Given the description of an element on the screen output the (x, y) to click on. 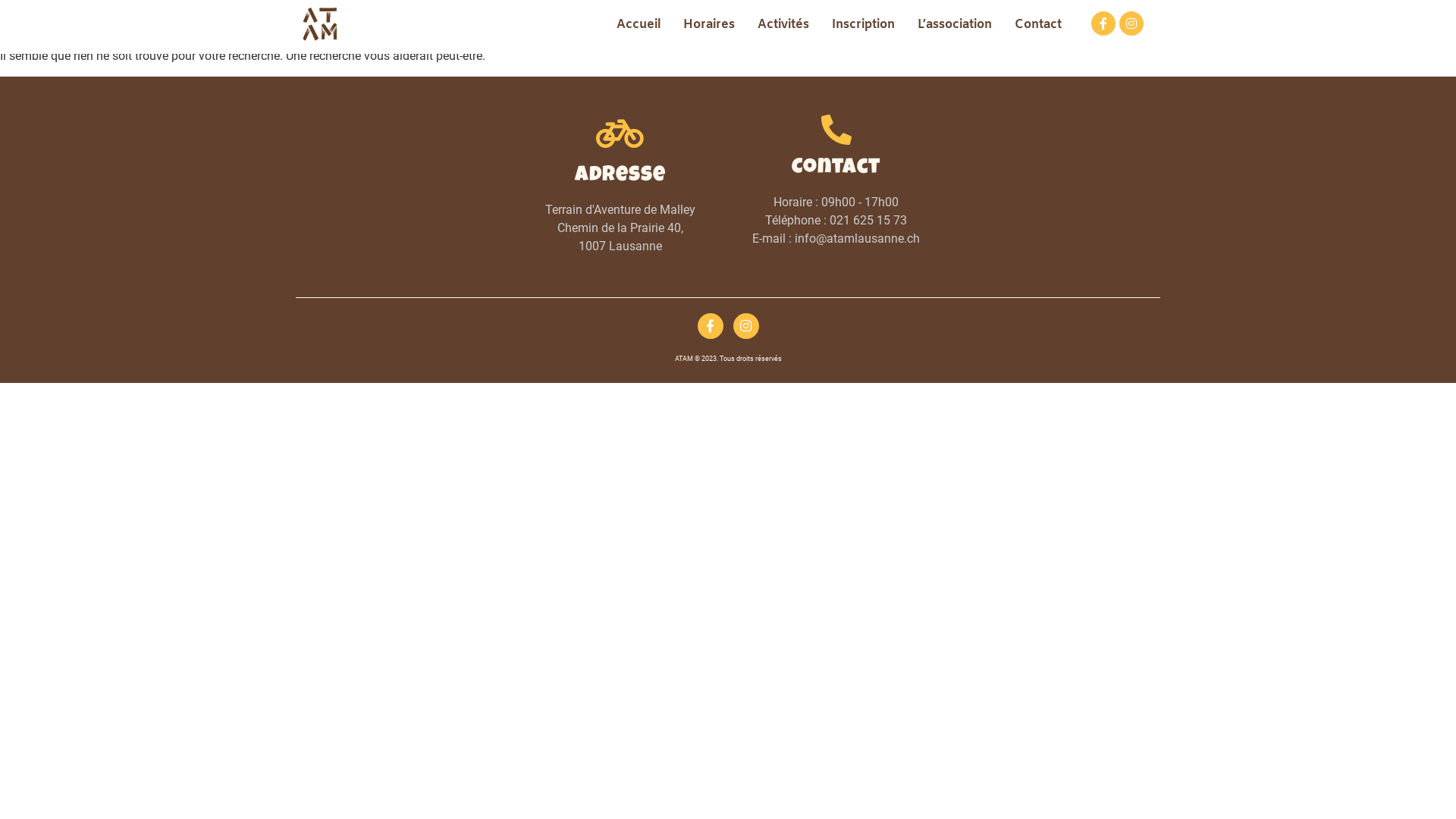
Horaires Element type: text (708, 24)
Accueil Element type: text (638, 24)
Contact Element type: text (1038, 24)
Inscription Element type: text (863, 24)
